Given the description of an element on the screen output the (x, y) to click on. 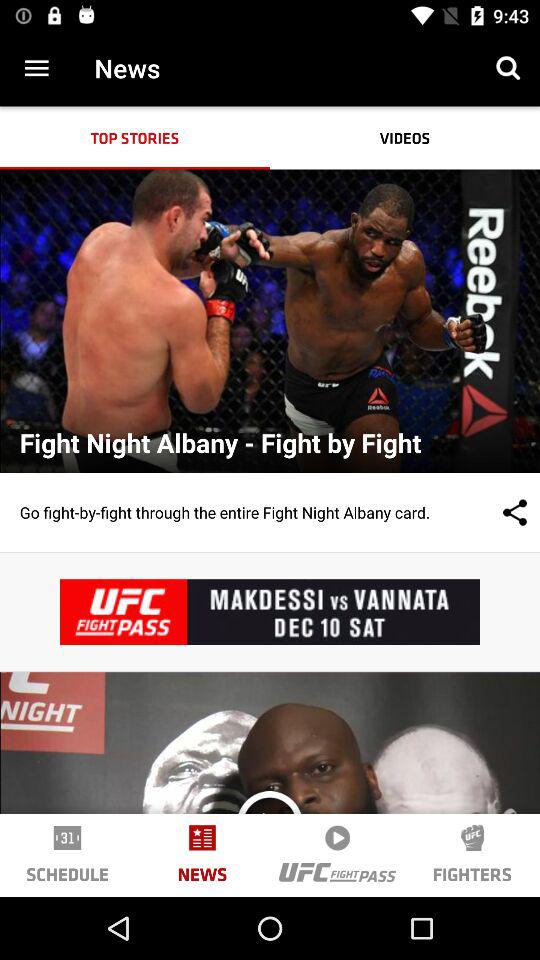
choose icon to the right of news (508, 67)
